Given the description of an element on the screen output the (x, y) to click on. 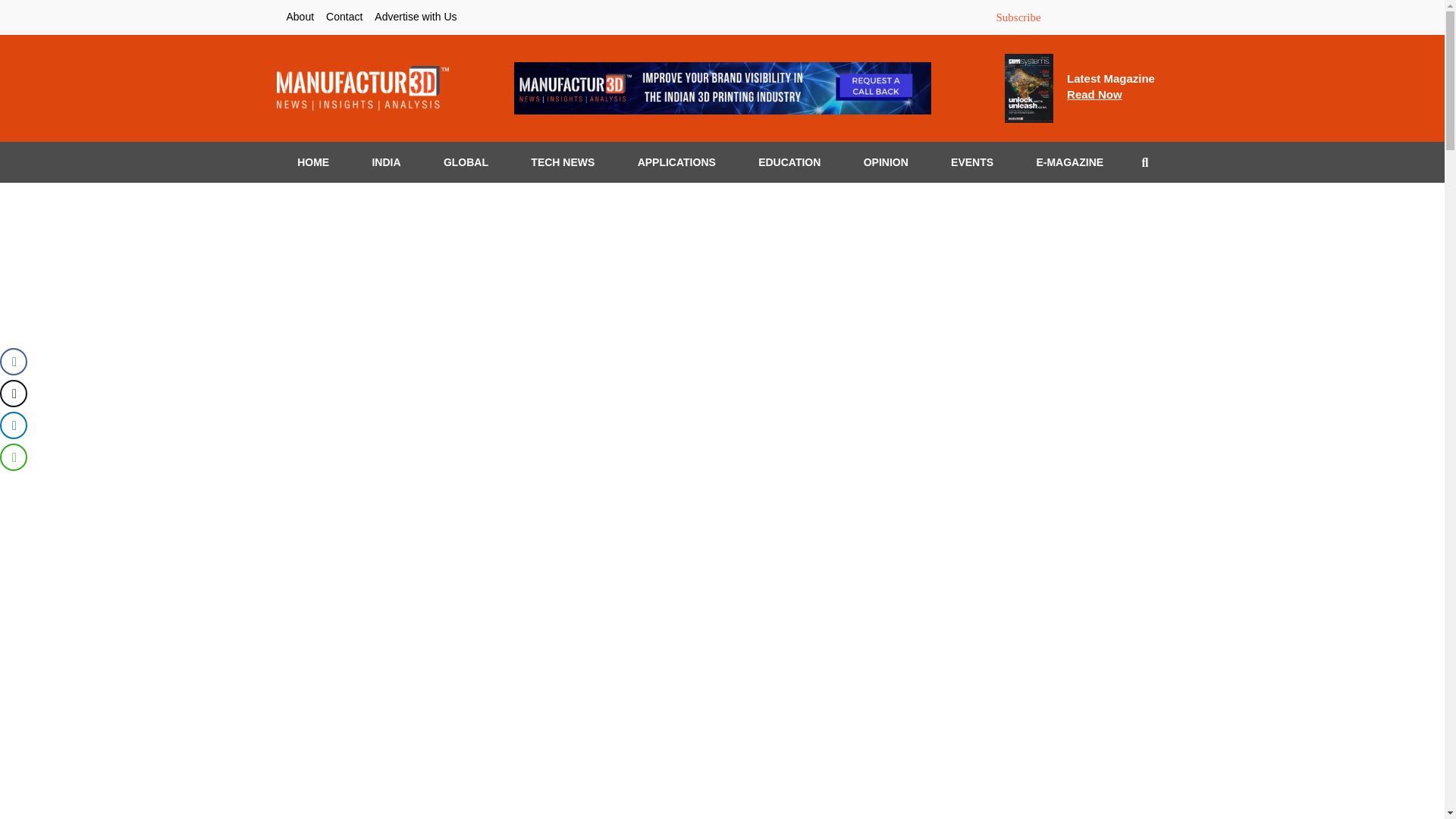
Subscribe (1110, 86)
APPLICATIONS (1018, 17)
E-MAGAZINE (676, 161)
INDIA (1069, 161)
About (385, 161)
Advertise with Us (300, 16)
EVENTS (415, 16)
HOME (971, 161)
GLOBAL (312, 161)
